Given the description of an element on the screen output the (x, y) to click on. 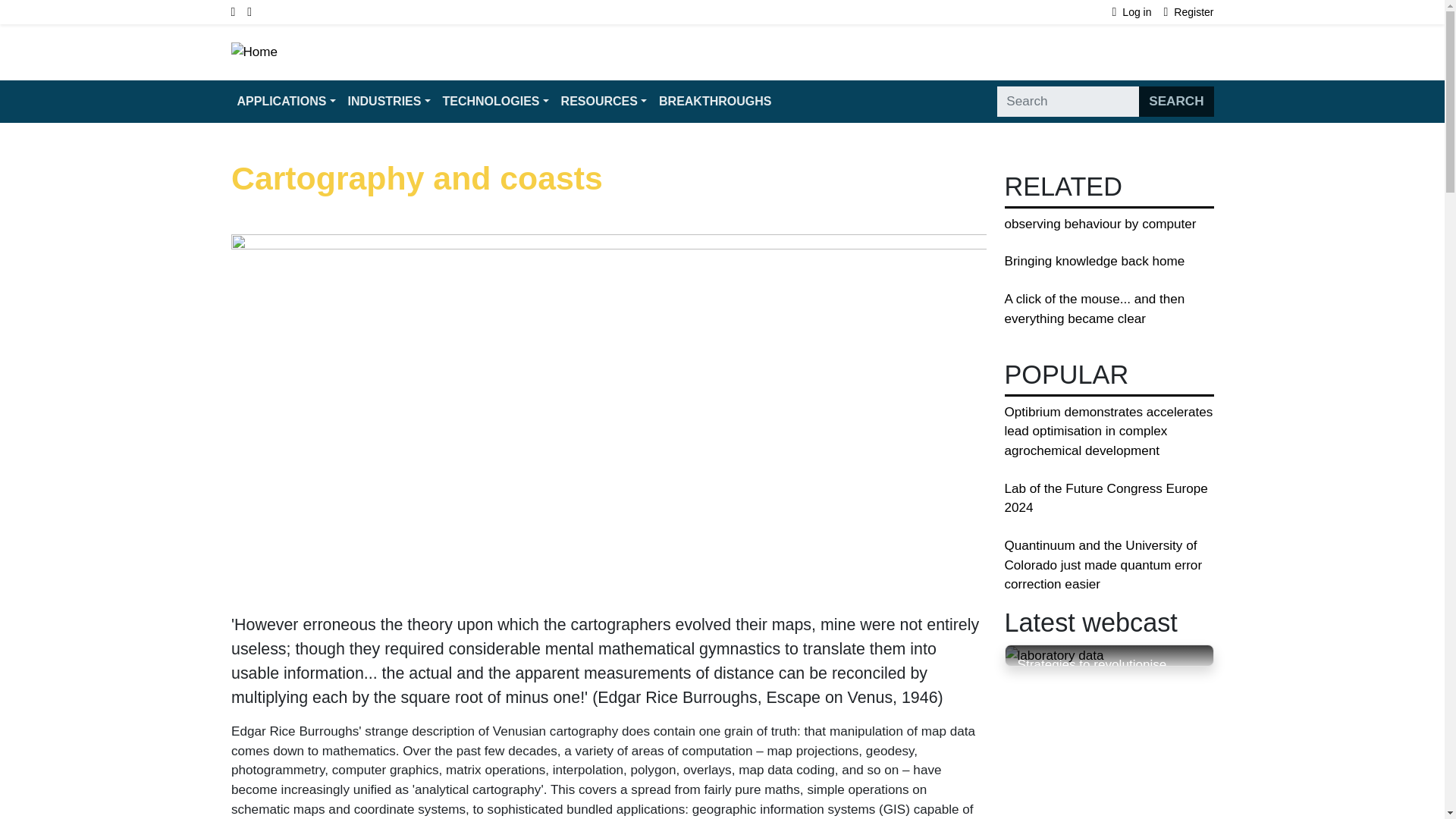
SEARCH (1175, 101)
Log in (1137, 12)
Twitter (249, 12)
Register (1188, 12)
Home (254, 51)
Enter the terms you wish to search for. (1067, 101)
LinkedIn (238, 12)
BREAKTHROUGHS (714, 101)
